Given the description of an element on the screen output the (x, y) to click on. 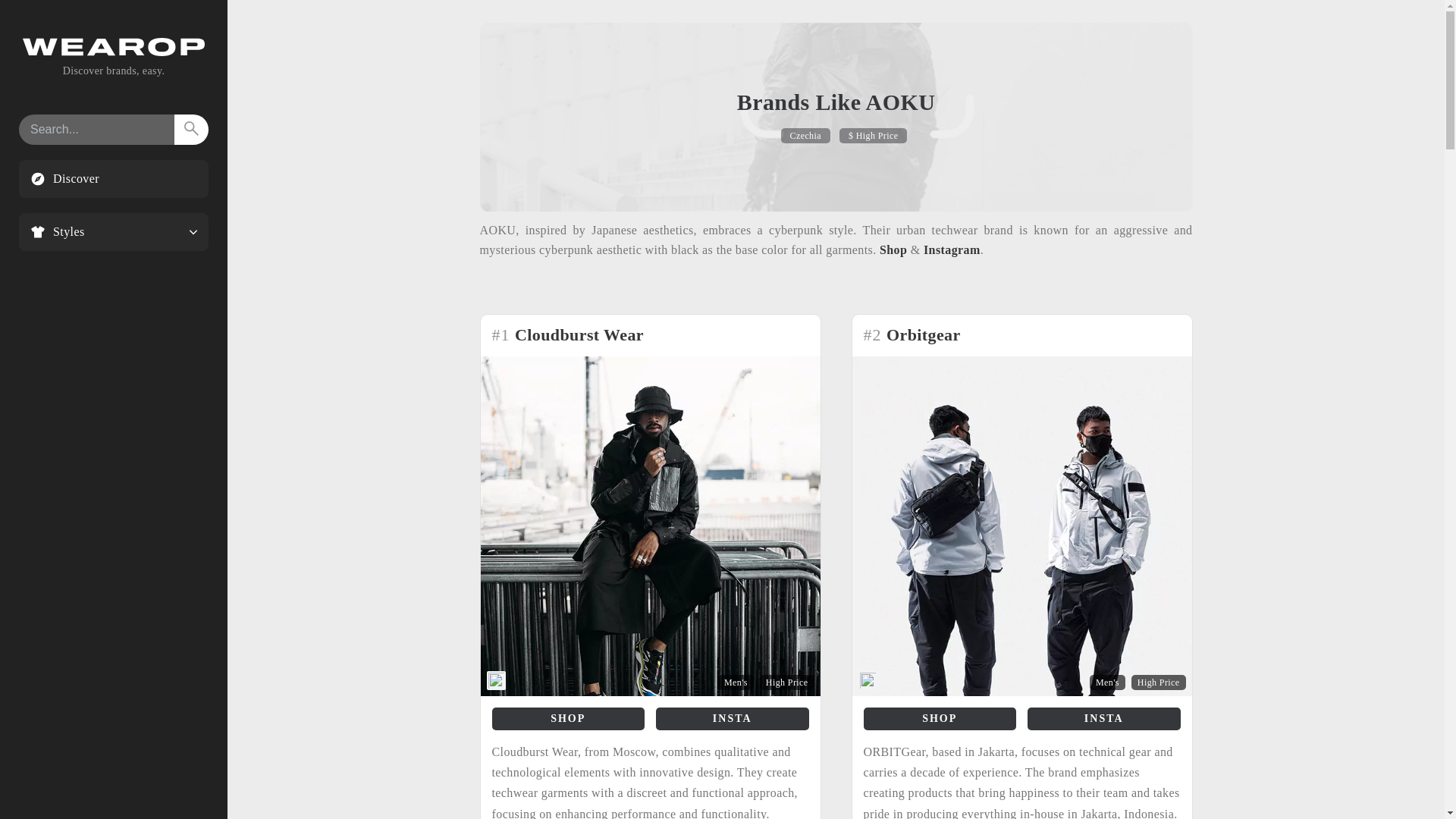
INSTA (1103, 718)
SHOP (568, 718)
Discover (113, 178)
WEAROP (114, 51)
INSTA (732, 718)
Instagram (951, 249)
SHOP (939, 718)
Shop (893, 249)
AOKU Official Website (893, 249)
